Given the description of an element on the screen output the (x, y) to click on. 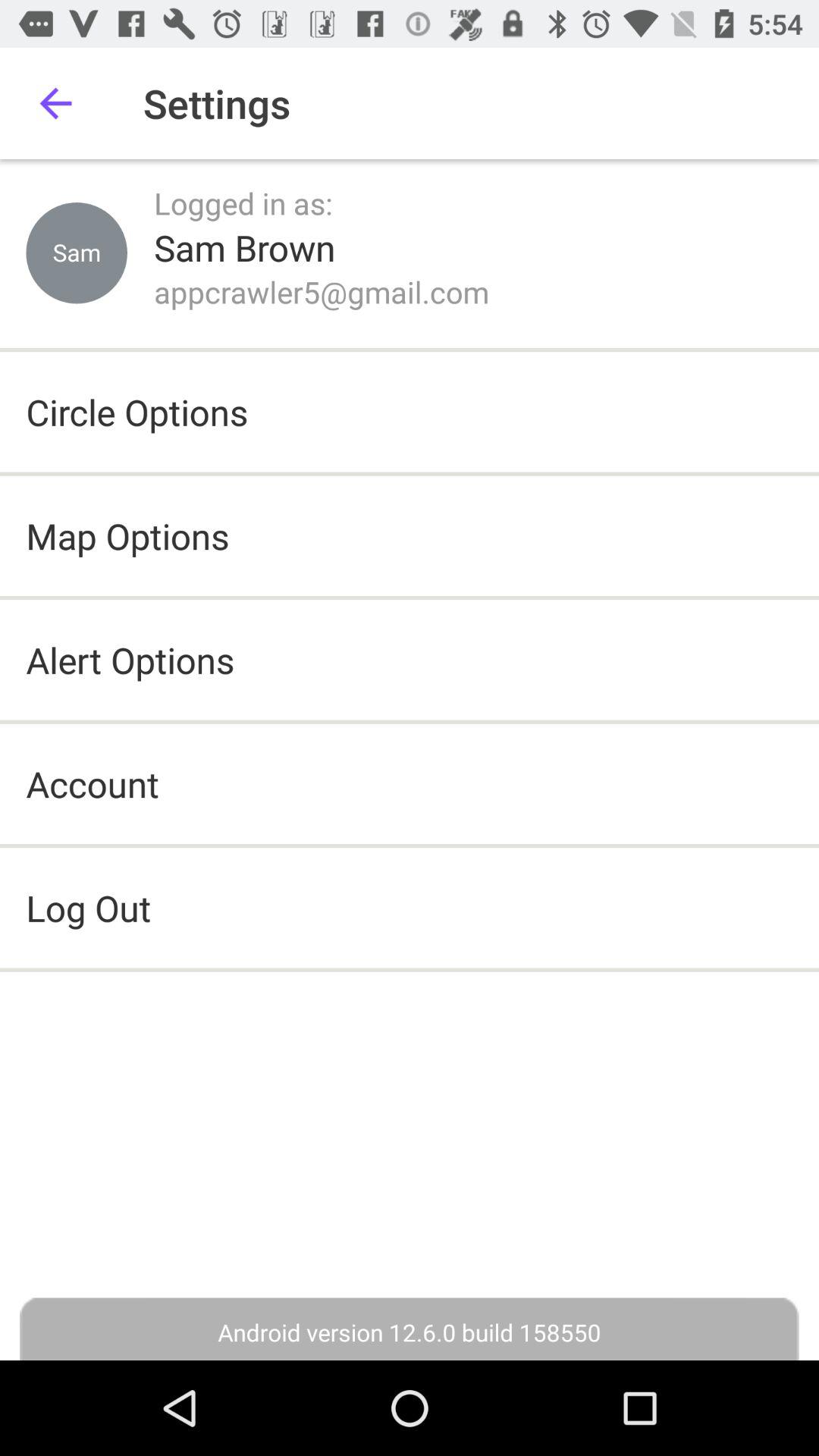
turn off icon above the map options item (136, 411)
